Given the description of an element on the screen output the (x, y) to click on. 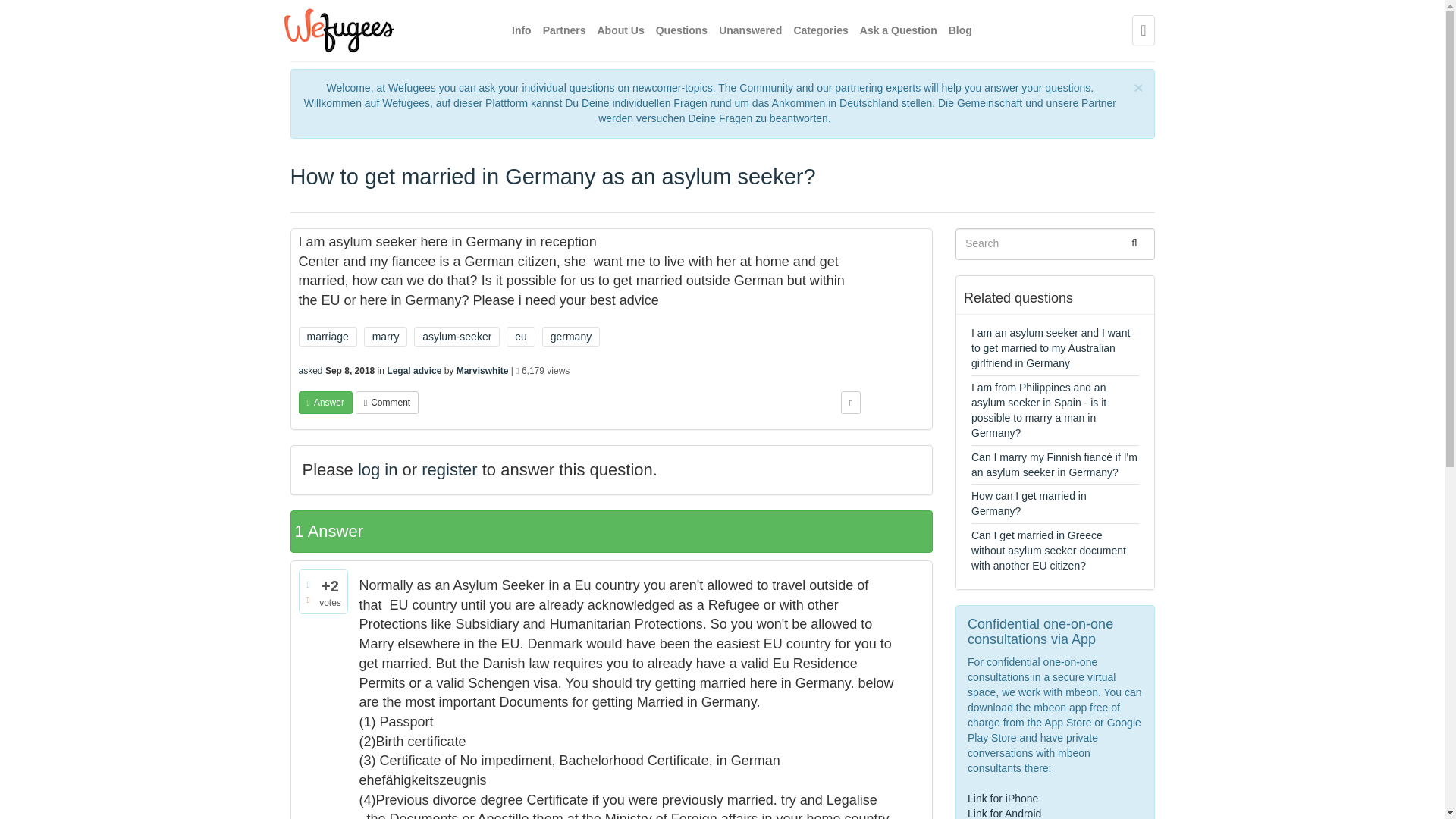
register (449, 469)
germany (570, 336)
Ask a Question (898, 30)
About Us (619, 30)
Categories (820, 30)
Partners (564, 30)
marriage (327, 336)
marry (385, 336)
Answer (325, 402)
Click to vote up (308, 584)
Questions (681, 30)
Blog (960, 30)
Unanswered (750, 30)
asylum-seeker (456, 336)
asked (310, 370)
